Given the description of an element on the screen output the (x, y) to click on. 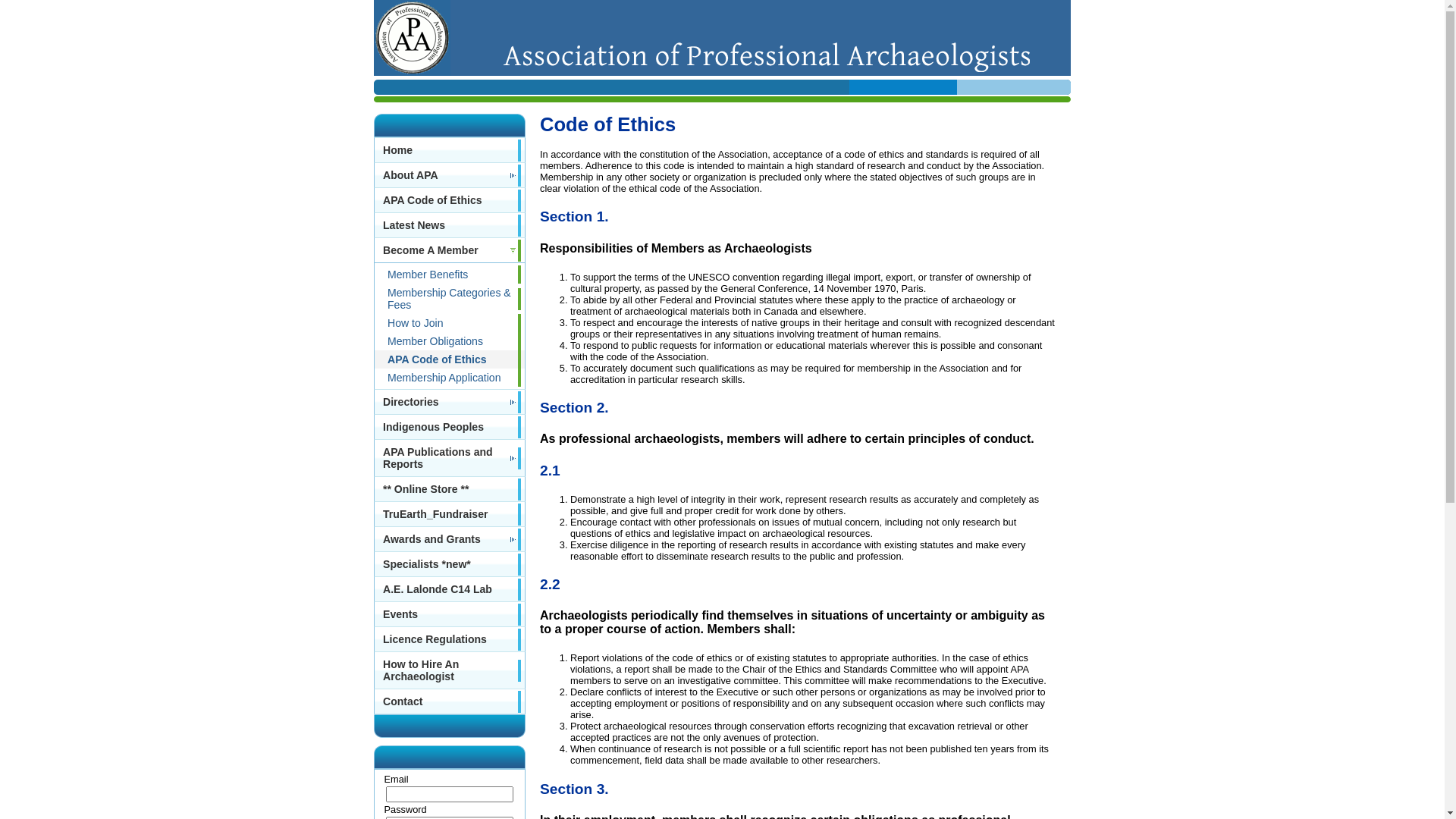
How to Hire An Archaeologist Element type: text (449, 670)
Awards and Grants Element type: text (449, 539)
How to Join Element type: text (449, 322)
Licence Regulations Element type: text (449, 639)
Contact Element type: text (449, 701)
APA Publications and Reports Element type: text (449, 457)
Association of Professional Archaeologists Element type: hover (766, 57)
Latest News Element type: text (449, 225)
Membership Categories & Fees Element type: text (449, 298)
Events Element type: text (449, 614)
Membership Application Element type: text (449, 377)
Member Benefits Element type: text (449, 274)
** Online Store ** Element type: text (449, 488)
Home Element type: text (449, 150)
Indigenous Peoples Element type: text (449, 426)
A.E. Lalonde C14 Lab Element type: text (449, 589)
About APA Element type: text (449, 175)
Become A Member Element type: text (449, 250)
Directories Element type: text (449, 401)
Specialists *new* Element type: text (449, 564)
APA Code of Ethics Element type: text (449, 200)
TruEarth_Fundraiser Element type: text (449, 514)
Member Obligations Element type: text (449, 341)
